Given the description of an element on the screen output the (x, y) to click on. 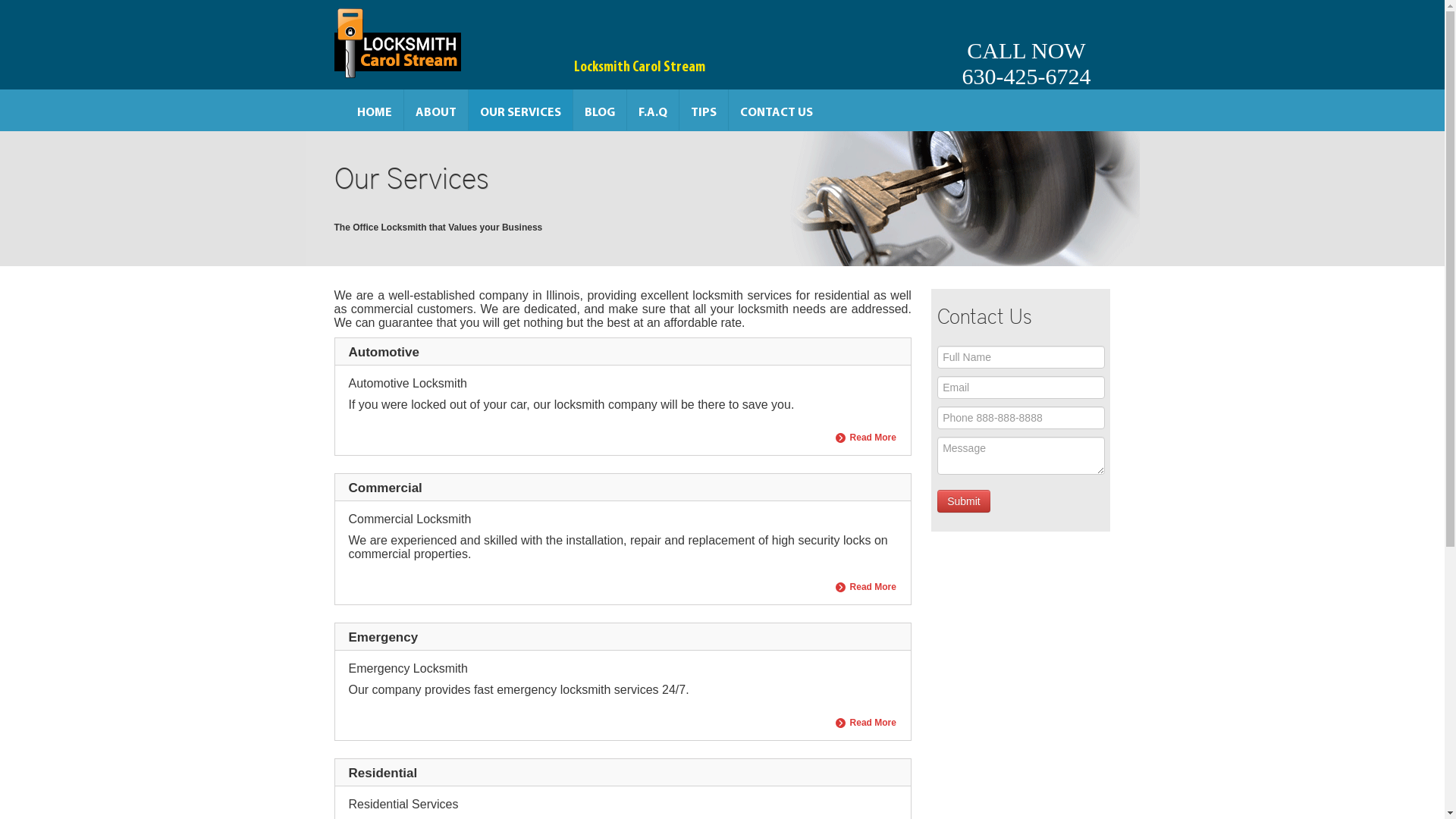
TIPS Element type: text (703, 109)
HOME Element type: text (374, 109)
Submit Element type: text (963, 500)
CONTACT US Element type: text (775, 109)
Read More Element type: text (865, 723)
BLOG Element type: text (599, 109)
Read More Element type: text (865, 587)
ABOUT Element type: text (435, 109)
Read More Element type: text (865, 437)
OUR SERVICES Element type: text (520, 109)
CALL NOW
630-425-6724 Element type: text (1025, 44)
F.A.Q Element type: text (651, 109)
